Given the description of an element on the screen output the (x, y) to click on. 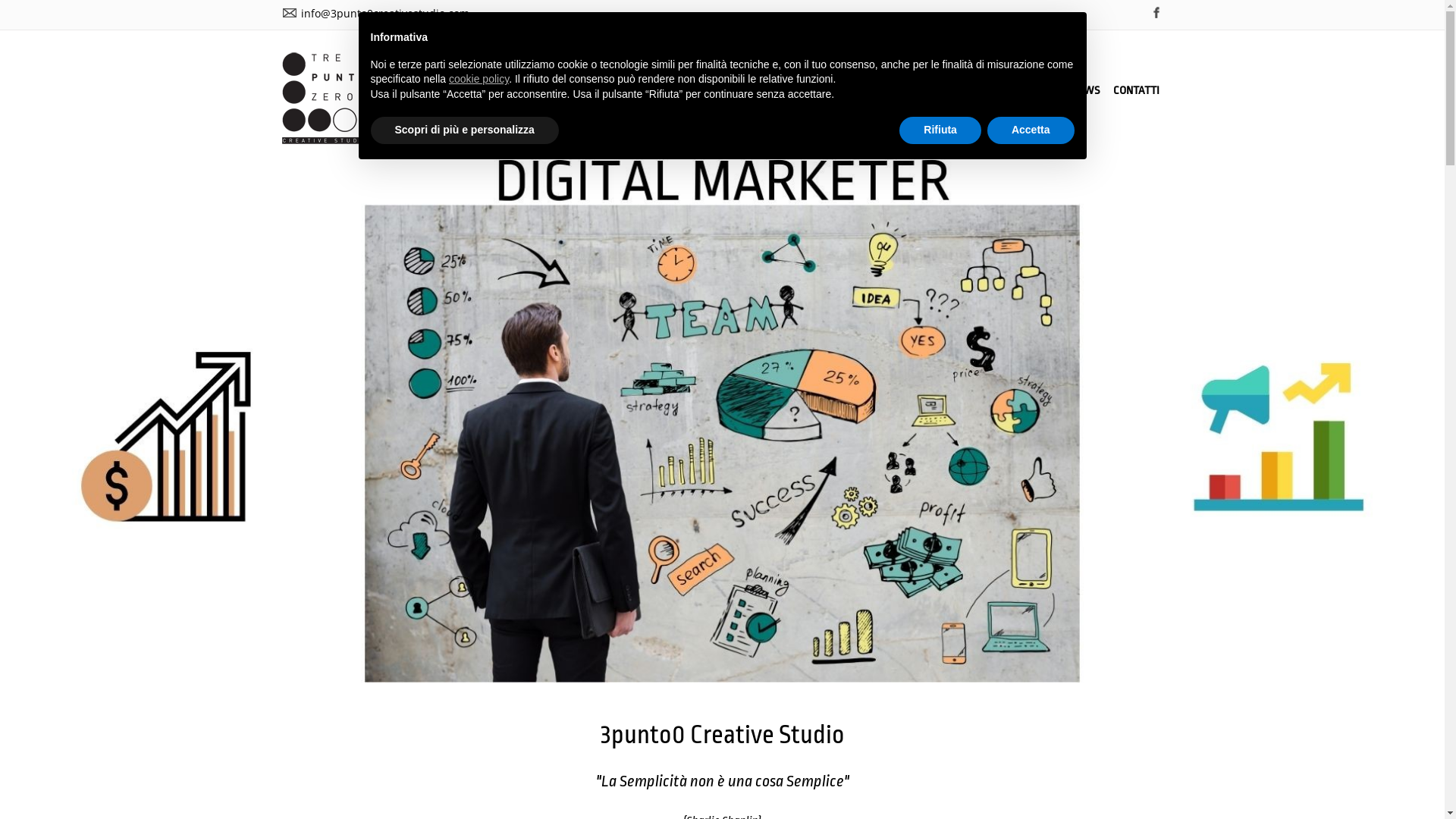
HOME Element type: text (704, 90)
Accetta Element type: text (1030, 130)
NEWS Element type: text (1084, 90)
cookie policy Element type: text (478, 78)
Rifiuta Element type: text (940, 130)
CONTATTI Element type: text (1135, 90)
PORTFOLIO Element type: text (968, 90)
Home Element type: hover (324, 144)
PROGETTI Element type: text (1032, 90)
